Given the description of an element on the screen output the (x, y) to click on. 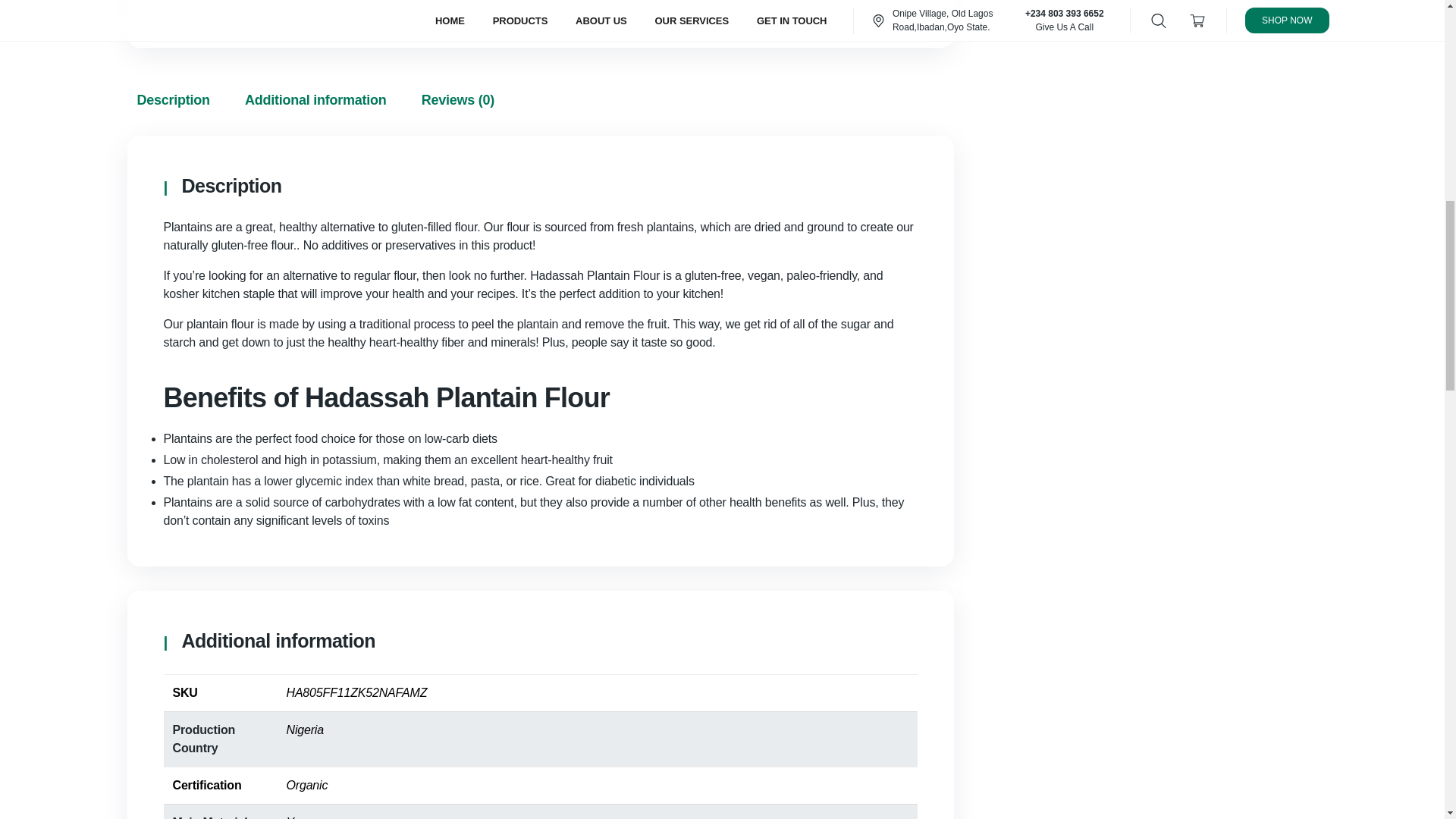
Additional information (314, 99)
Description (173, 99)
